Given the description of an element on the screen output the (x, y) to click on. 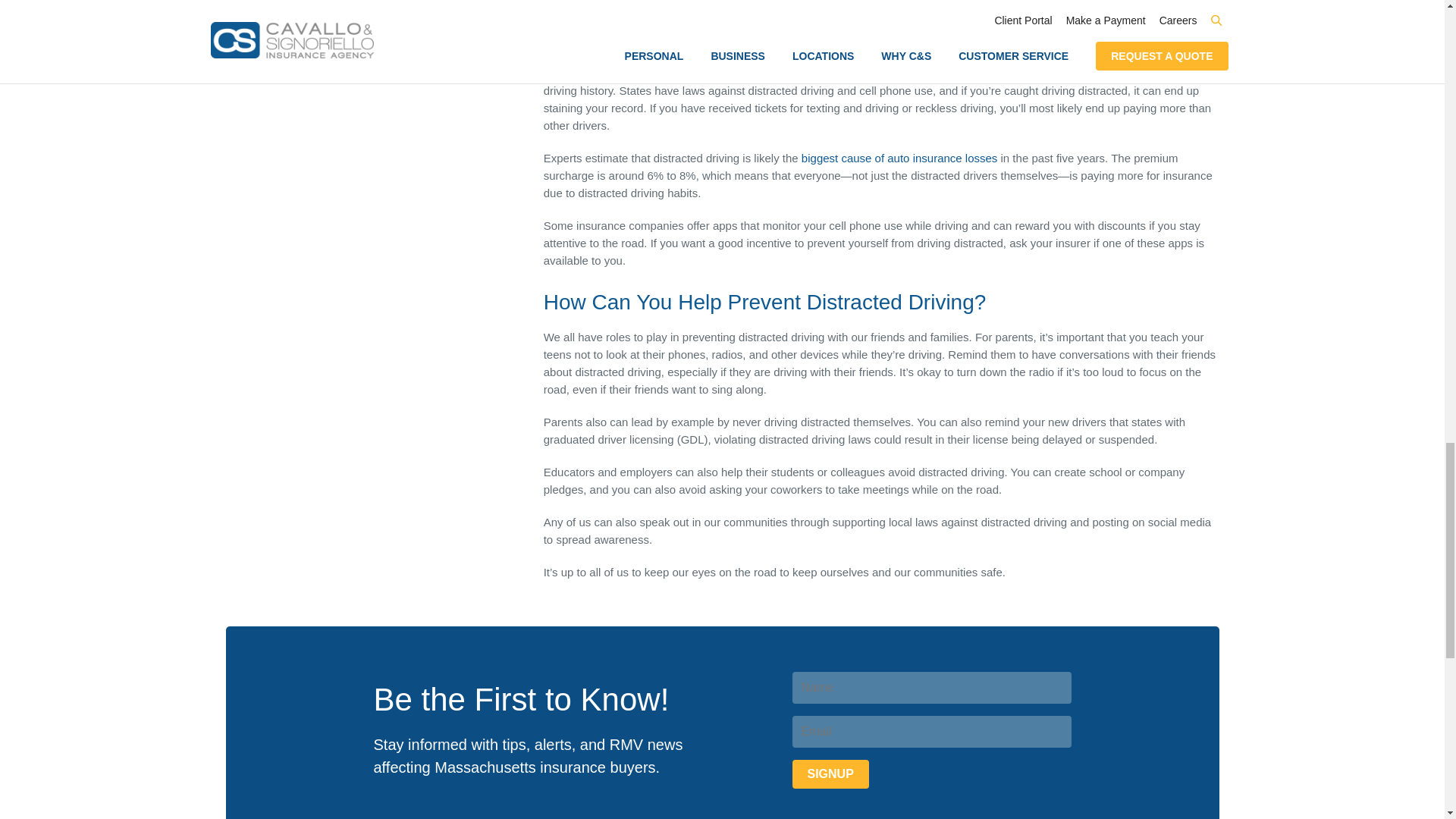
Signup (829, 774)
